Given the description of an element on the screen output the (x, y) to click on. 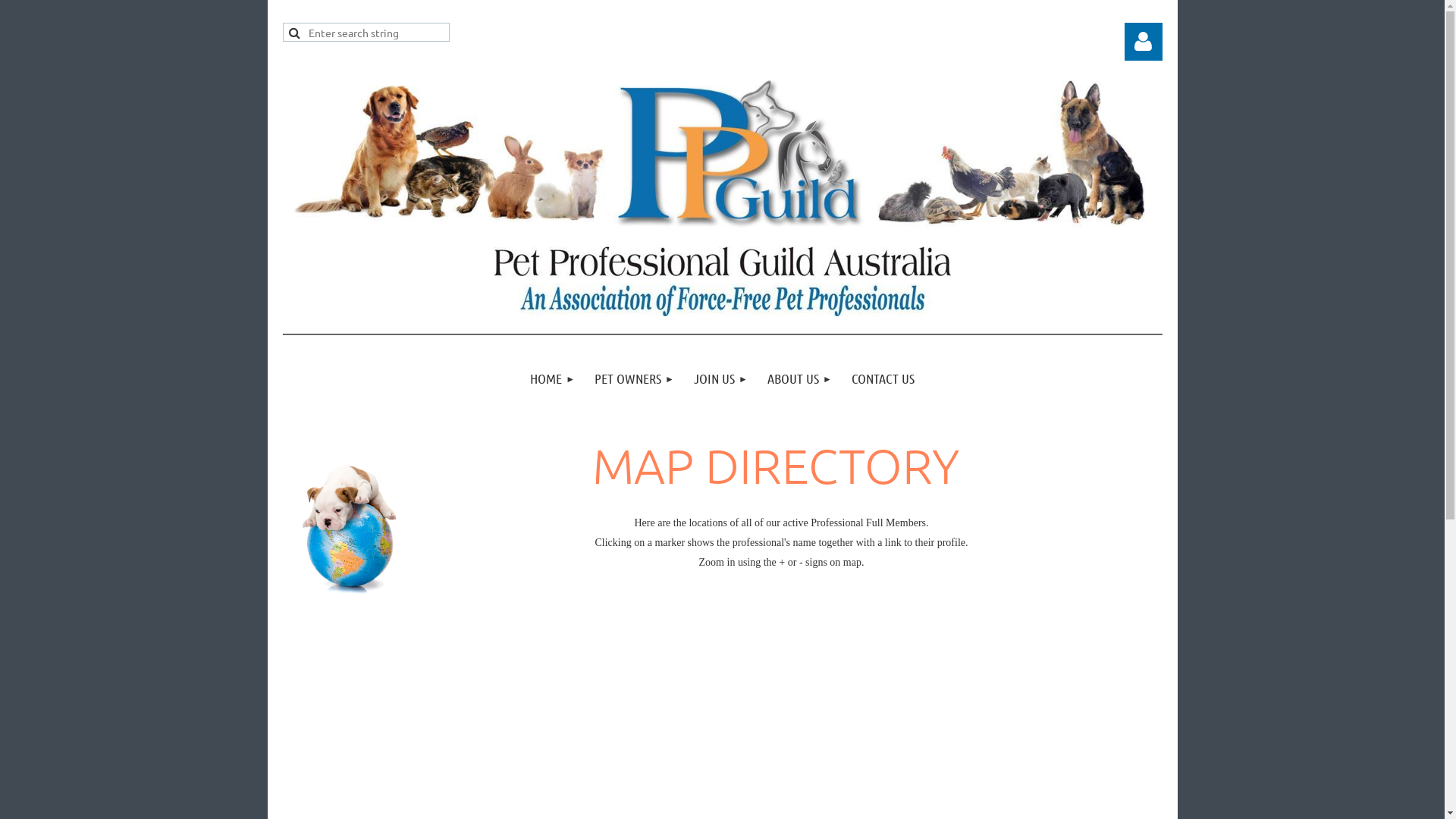
Log in Element type: text (1142, 41)
JOIN US Element type: text (720, 378)
ABOUT US Element type: text (799, 378)
HOME Element type: text (552, 378)
PET OWNERS Element type: text (634, 378)
CONTACT US Element type: text (882, 378)
